Given the description of an element on the screen output the (x, y) to click on. 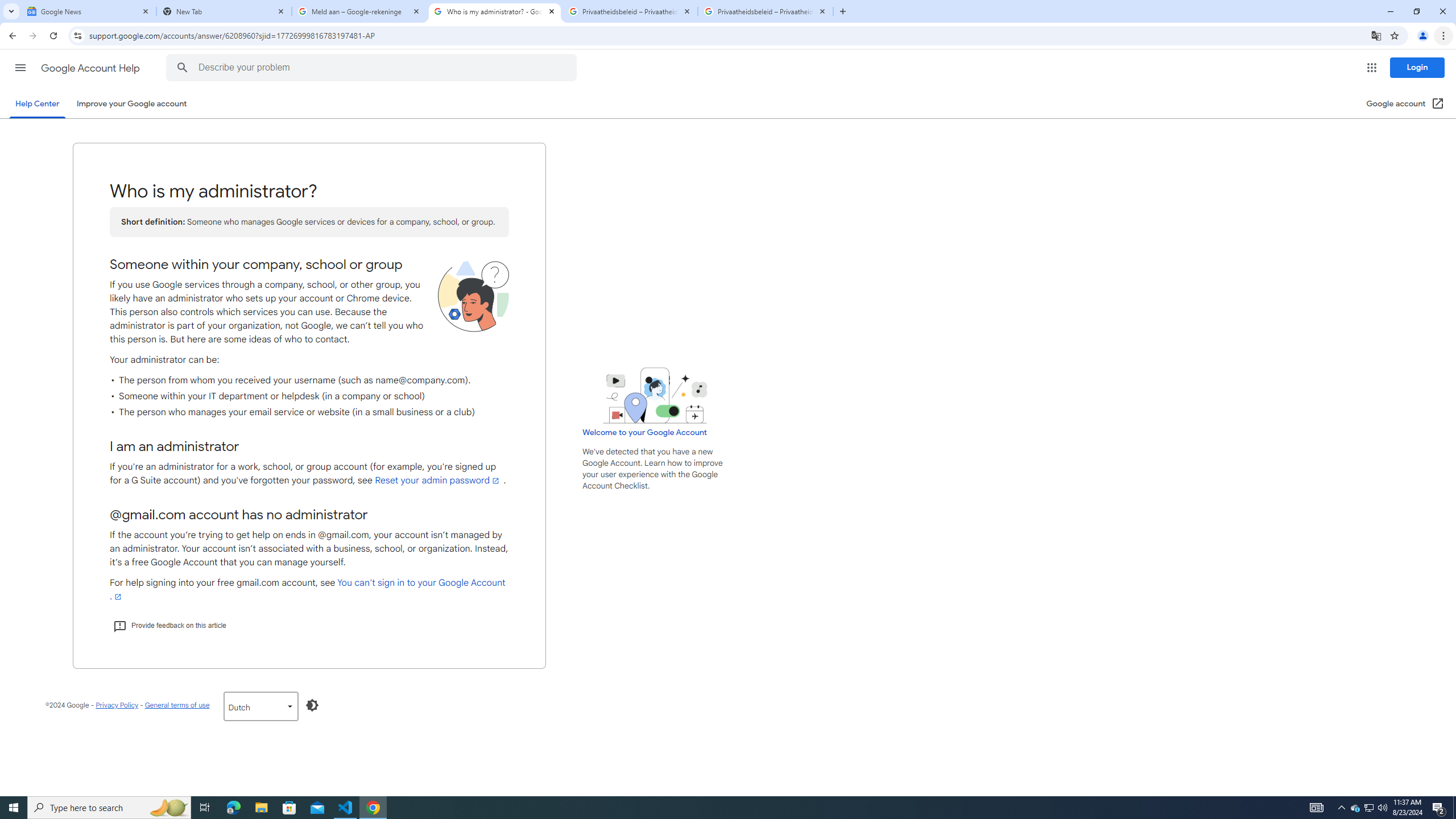
Translate this page (1376, 35)
Google Account Help (91, 68)
Reset your admin password (438, 480)
Login (1417, 67)
New Tab (224, 11)
Improve your Google account (131, 103)
